Given the description of an element on the screen output the (x, y) to click on. 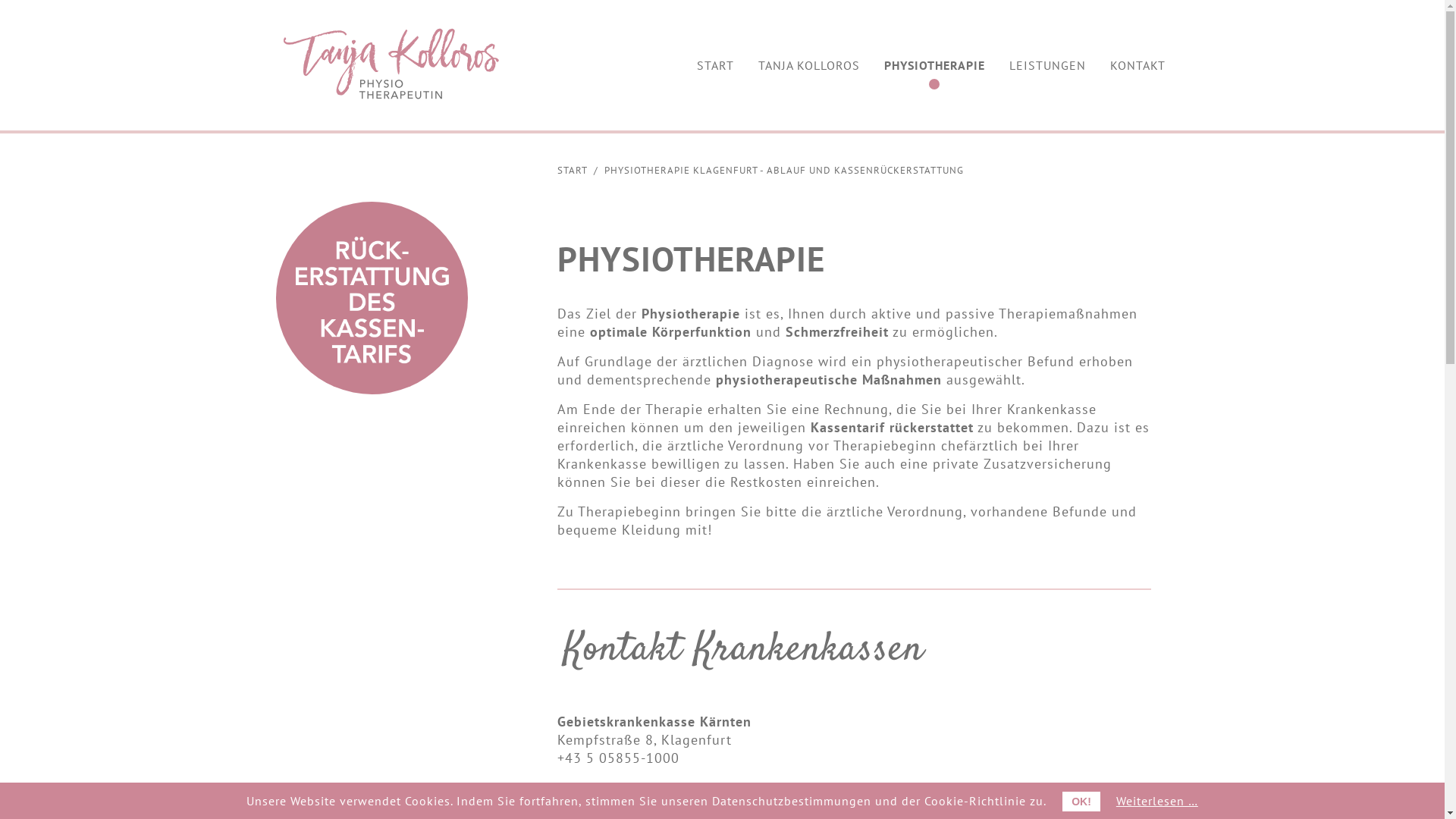
  Element type: text (1176, 55)
PHYSIOTHERAPIE Element type: text (934, 64)
START Element type: text (572, 169)
TANJA KOLLOROS Element type: text (809, 64)
KONTAKT Element type: text (1137, 64)
START Element type: text (714, 64)
OK! Element type: text (1081, 801)
LEISTUNGEN Element type: text (1046, 64)
